Given the description of an element on the screen output the (x, y) to click on. 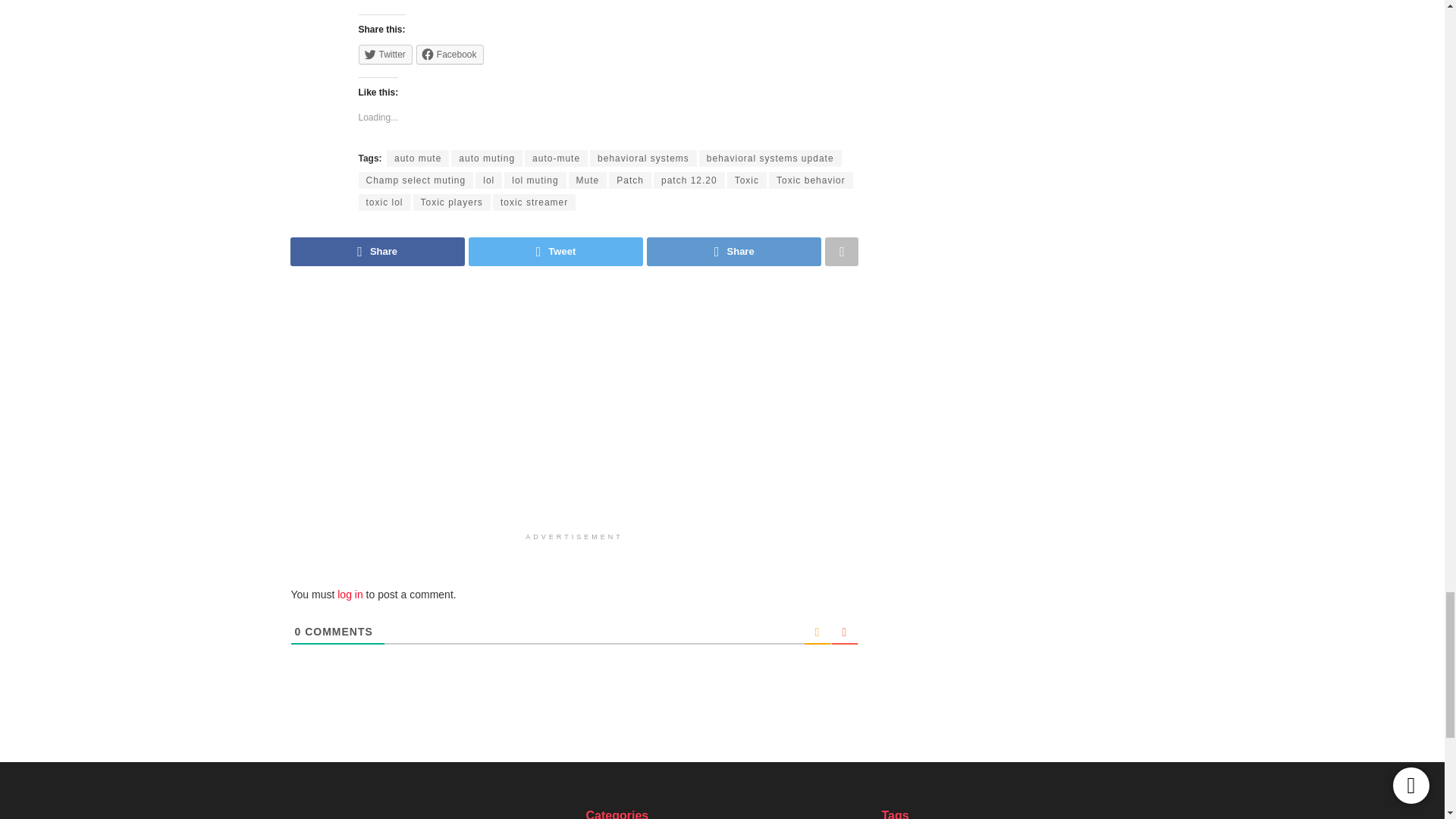
Click to share on Twitter (385, 54)
Click to share on Facebook (449, 54)
